Given the description of an element on the screen output the (x, y) to click on. 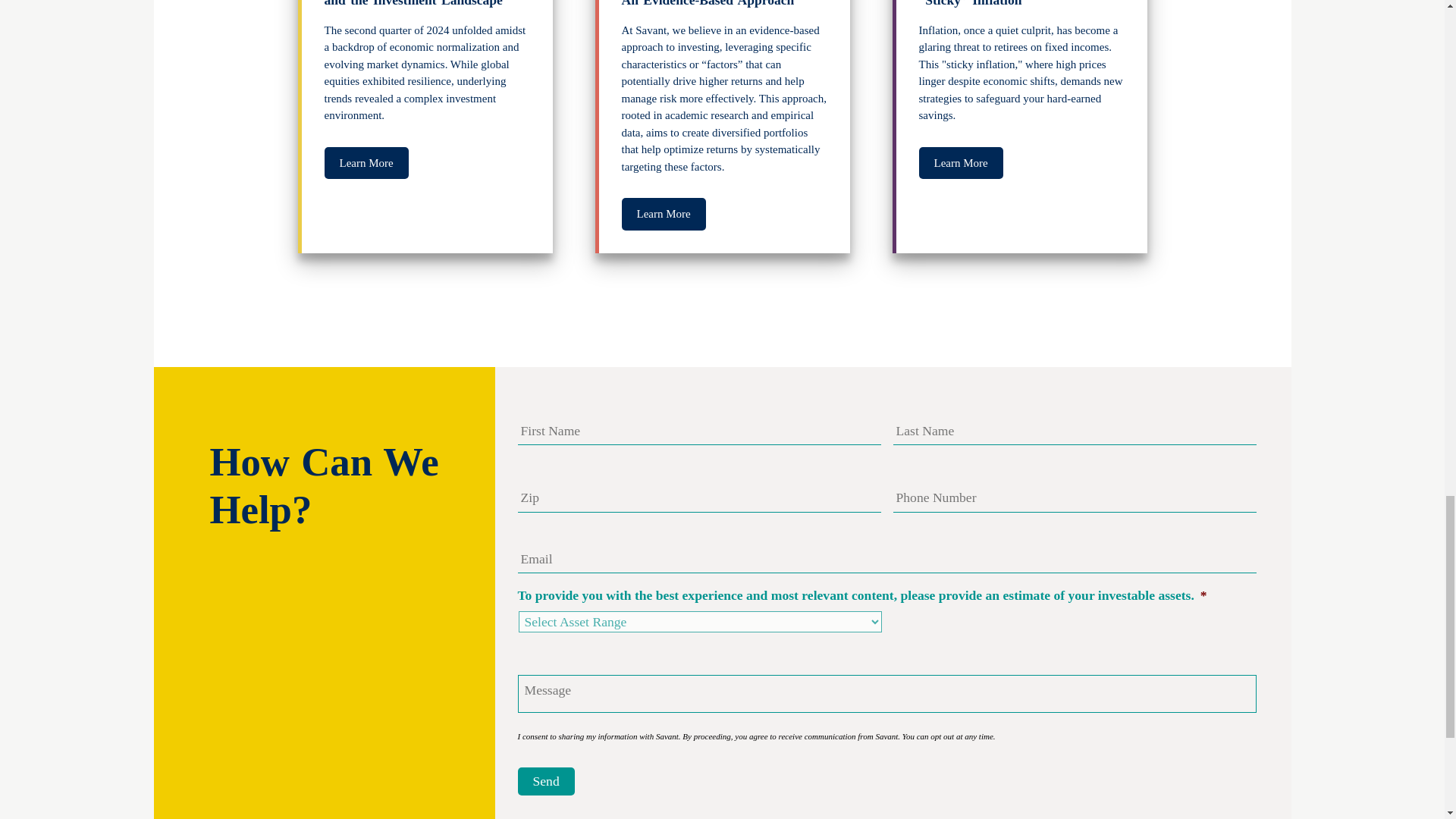
Send (544, 781)
